Given the description of an element on the screen output the (x, y) to click on. 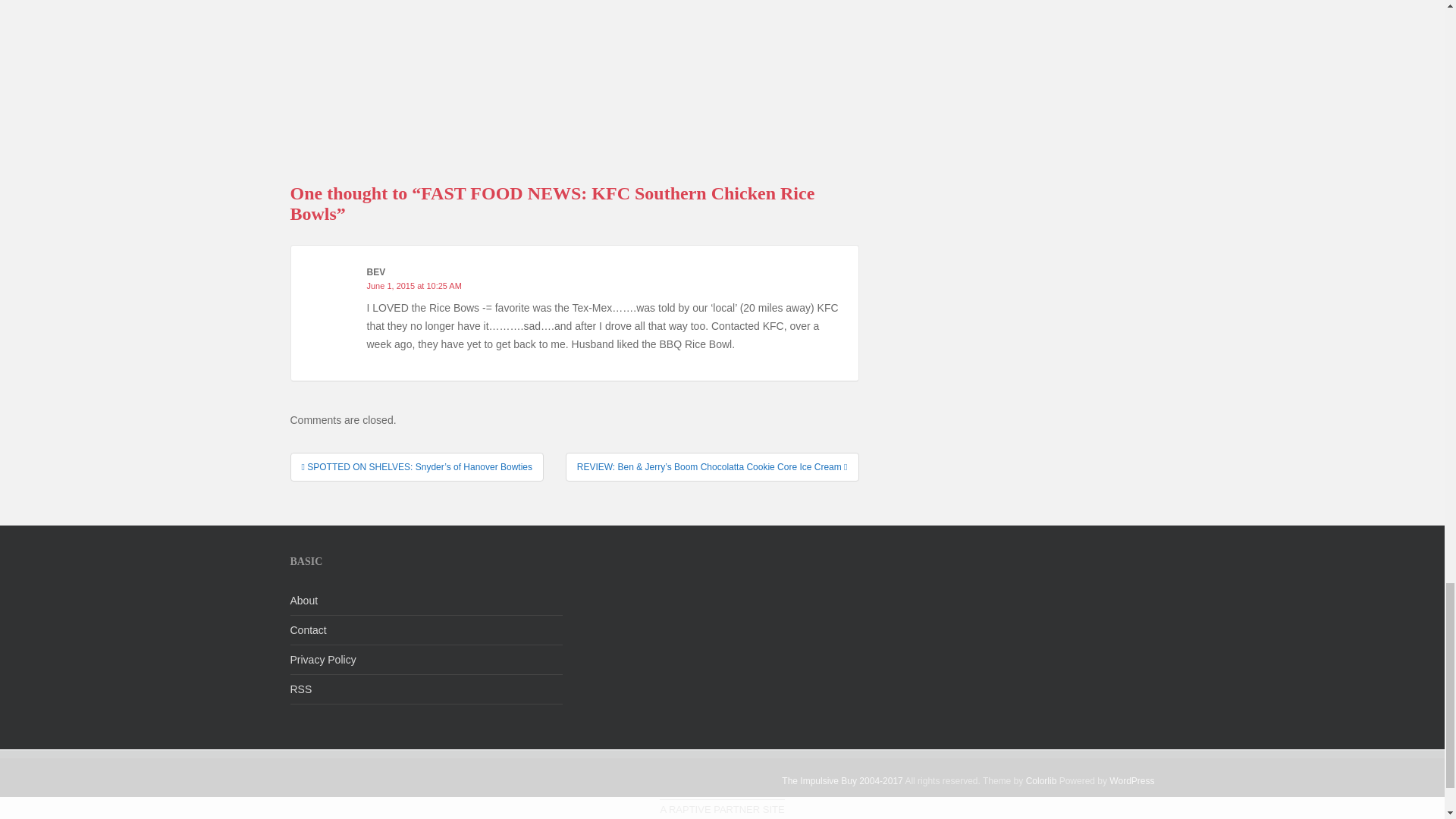
June 1, 2015 at 10:25 AM (413, 285)
